Given the description of an element on the screen output the (x, y) to click on. 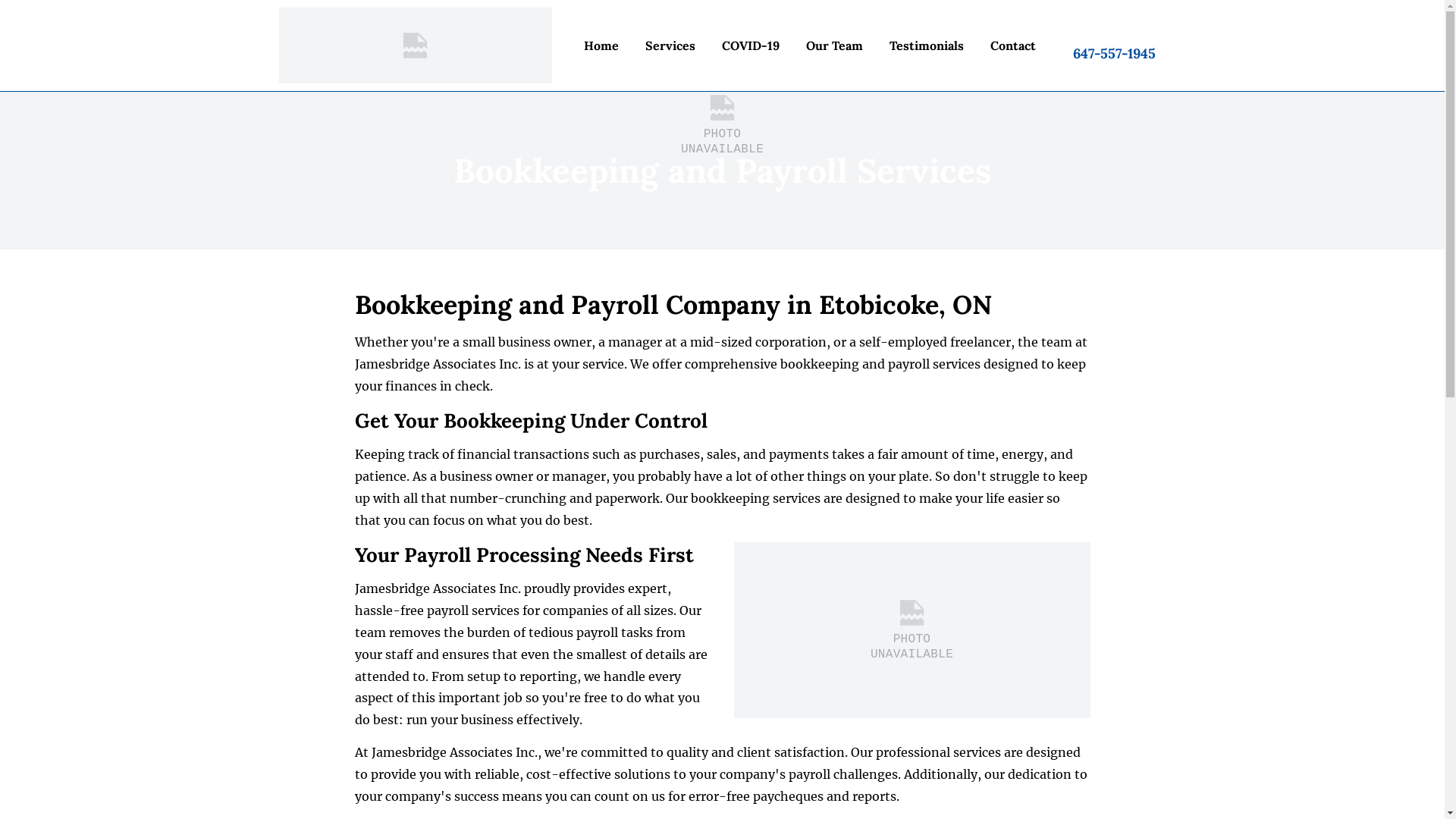
Contact Element type: text (1013, 45)
Testimonials Element type: text (925, 45)
COVID-19 Element type: text (750, 45)
Home Element type: text (601, 45)
Services Element type: text (669, 45)
Bookkeeping and Payroll Services Element type: hover (735, 551)
647-557-1945 Element type: text (1116, 45)
Our Team Element type: text (834, 45)
